Given the description of an element on the screen output the (x, y) to click on. 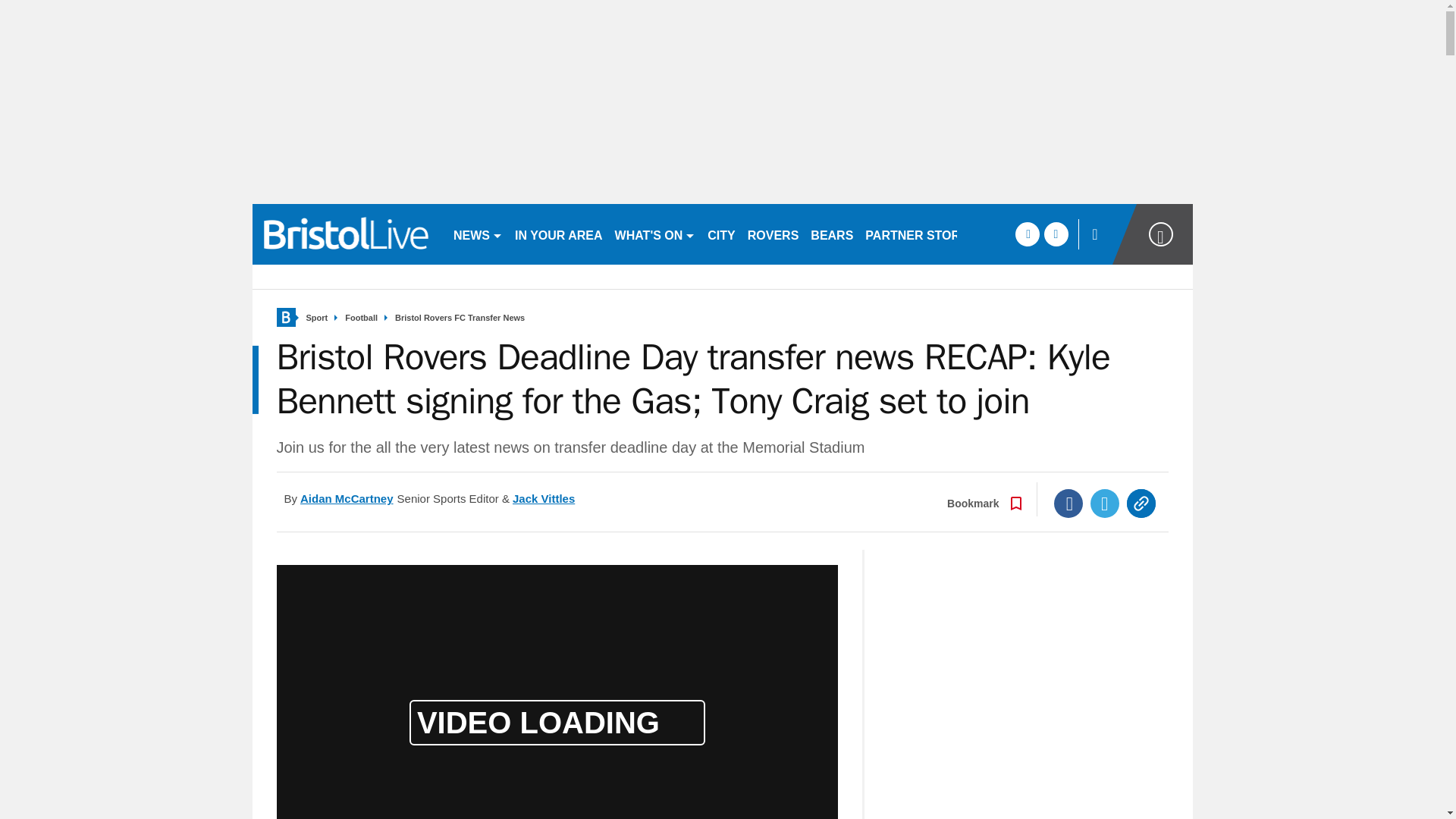
IN YOUR AREA (558, 233)
Facebook (1068, 502)
twitter (1055, 233)
WHAT'S ON (654, 233)
NEWS (477, 233)
ROVERS (773, 233)
bristolpost (345, 233)
facebook (1026, 233)
BEARS (832, 233)
Twitter (1104, 502)
PARTNER STORIES (922, 233)
